Given the description of an element on the screen output the (x, y) to click on. 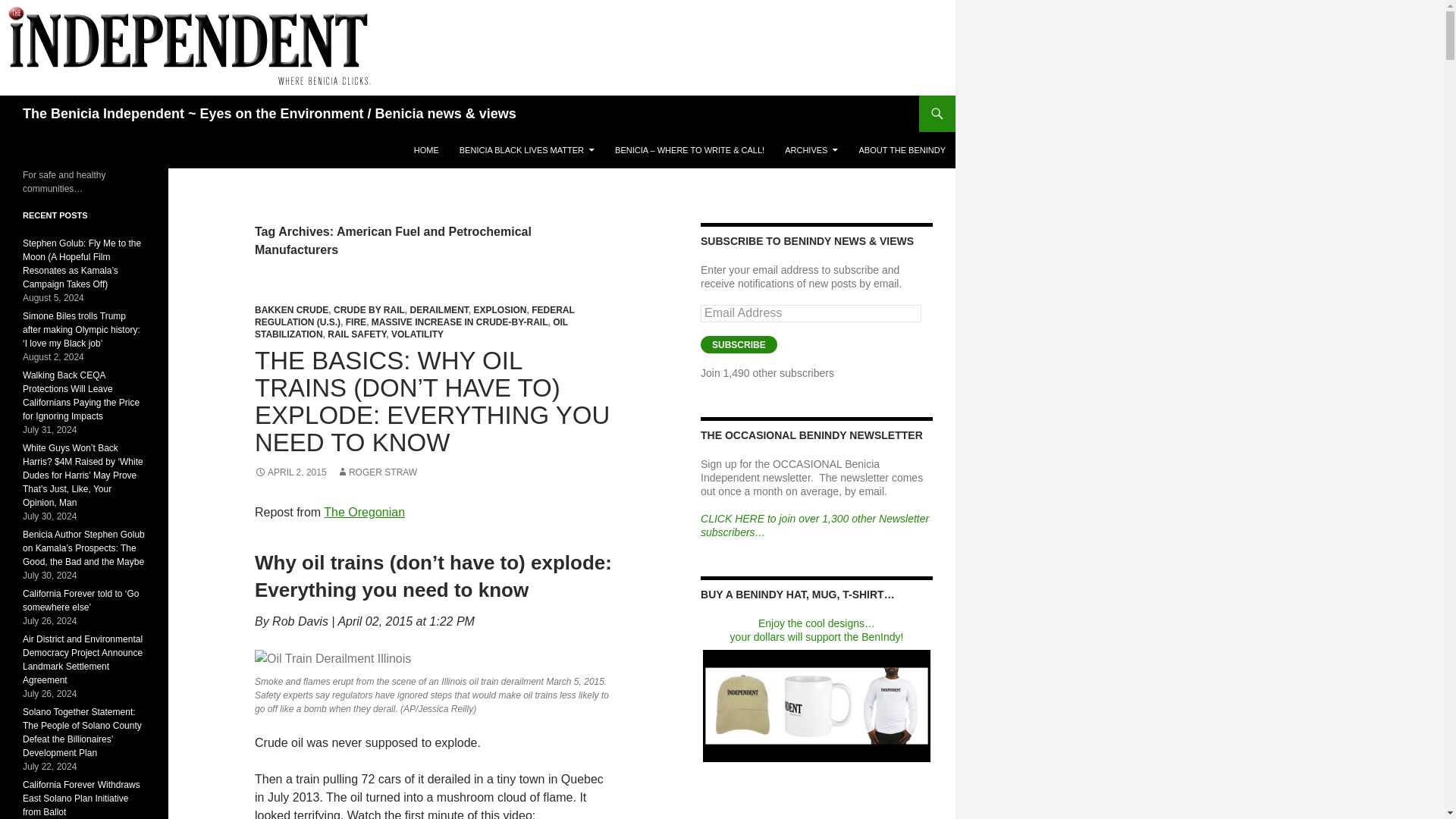
HOME (426, 149)
ARCHIVES (811, 149)
BENICIA BLACK LIVES MATTER (526, 149)
